Given the description of an element on the screen output the (x, y) to click on. 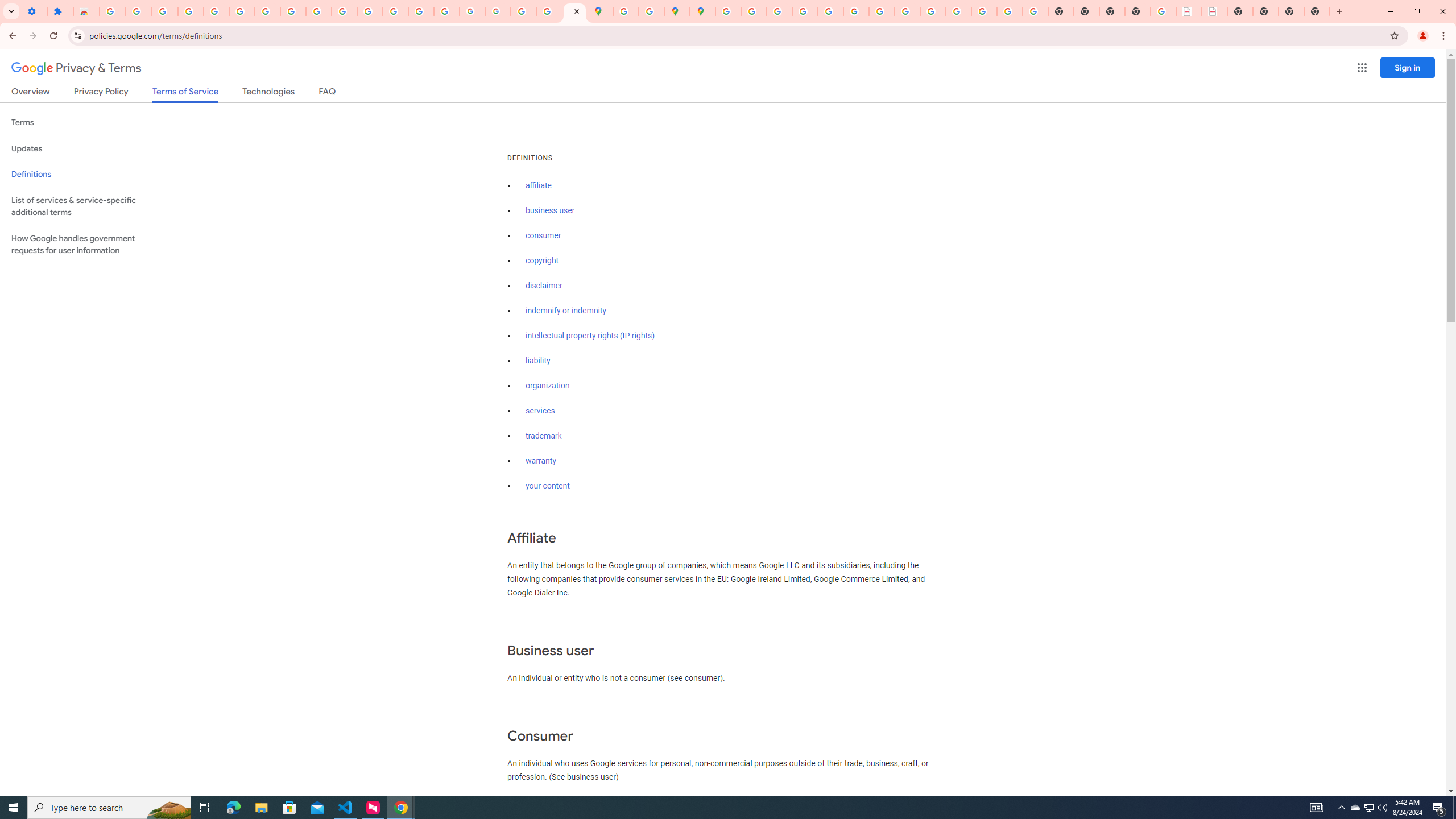
New Tab (1137, 11)
Back (10, 35)
Updates (86, 148)
Safety in Our Products - Google Safety Center (651, 11)
warranty (540, 461)
Overview (30, 93)
Sign in - Google Accounts (112, 11)
New Tab (1316, 11)
